Given the description of an element on the screen output the (x, y) to click on. 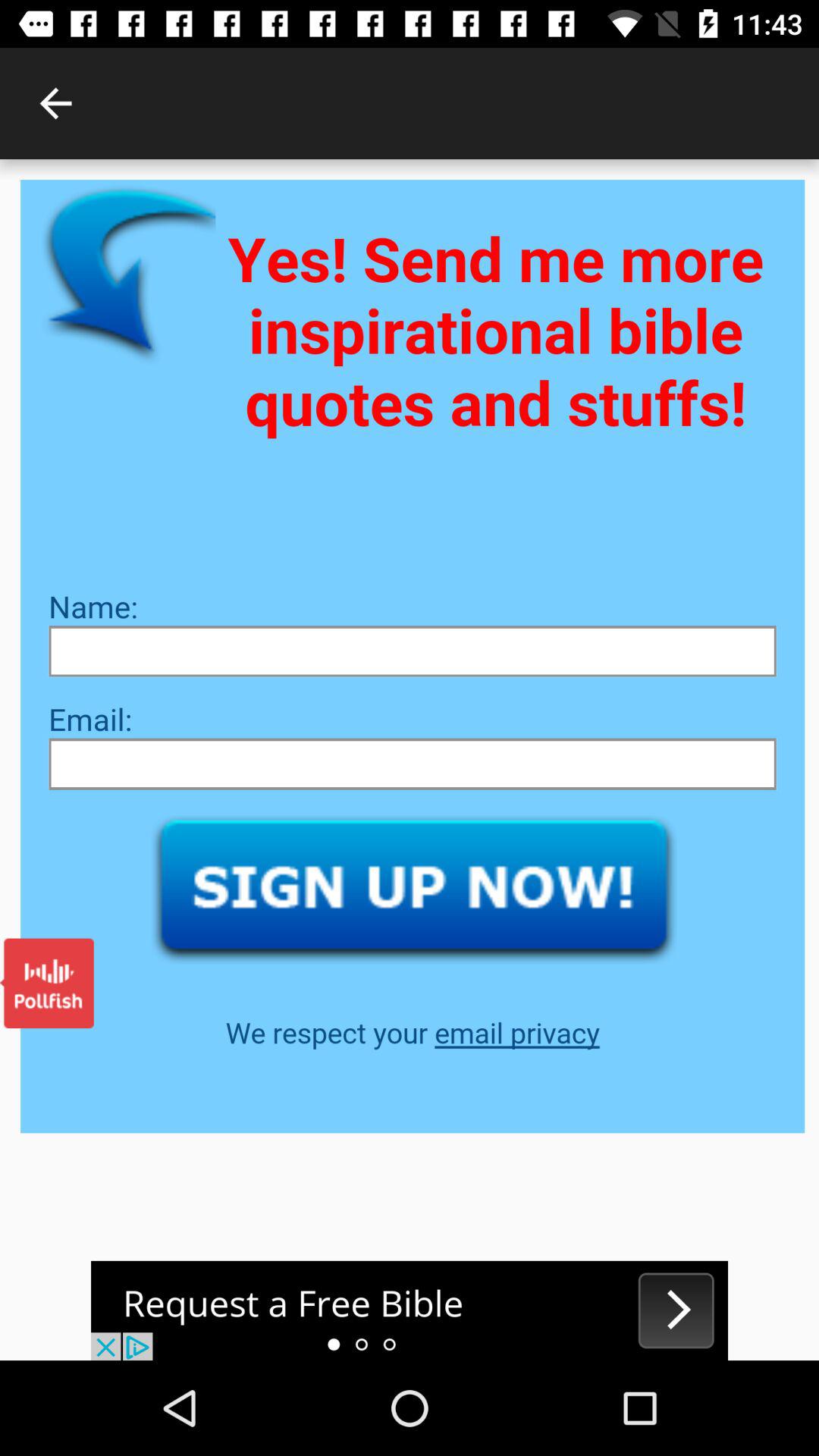
visit pollfish (46, 983)
